Given the description of an element on the screen output the (x, y) to click on. 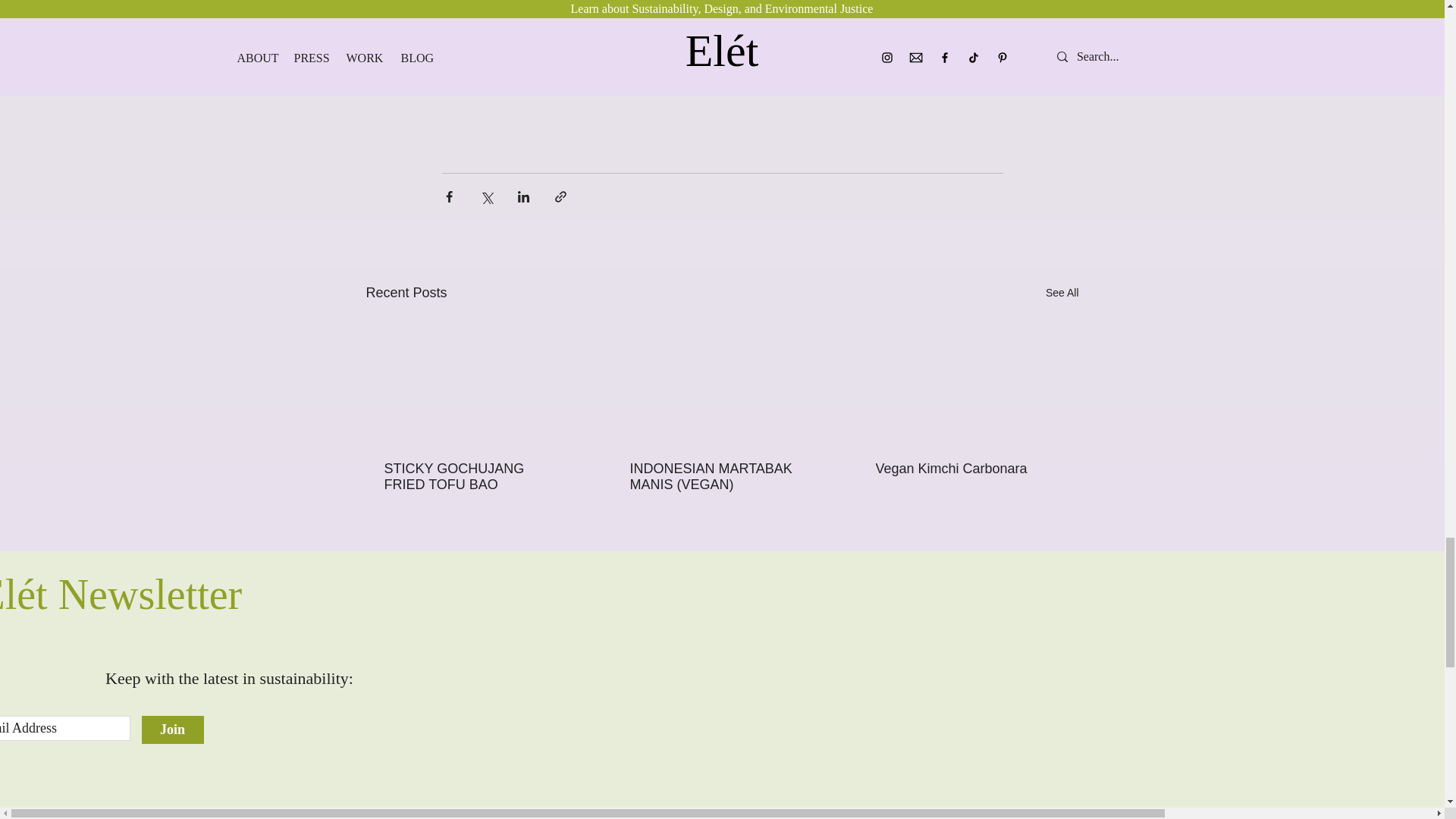
See All (1061, 292)
Vegan Kimchi Carbonara (966, 468)
Join (172, 729)
STICKY GOCHUJANG FRIED TOFU BAO (475, 477)
